Given the description of an element on the screen output the (x, y) to click on. 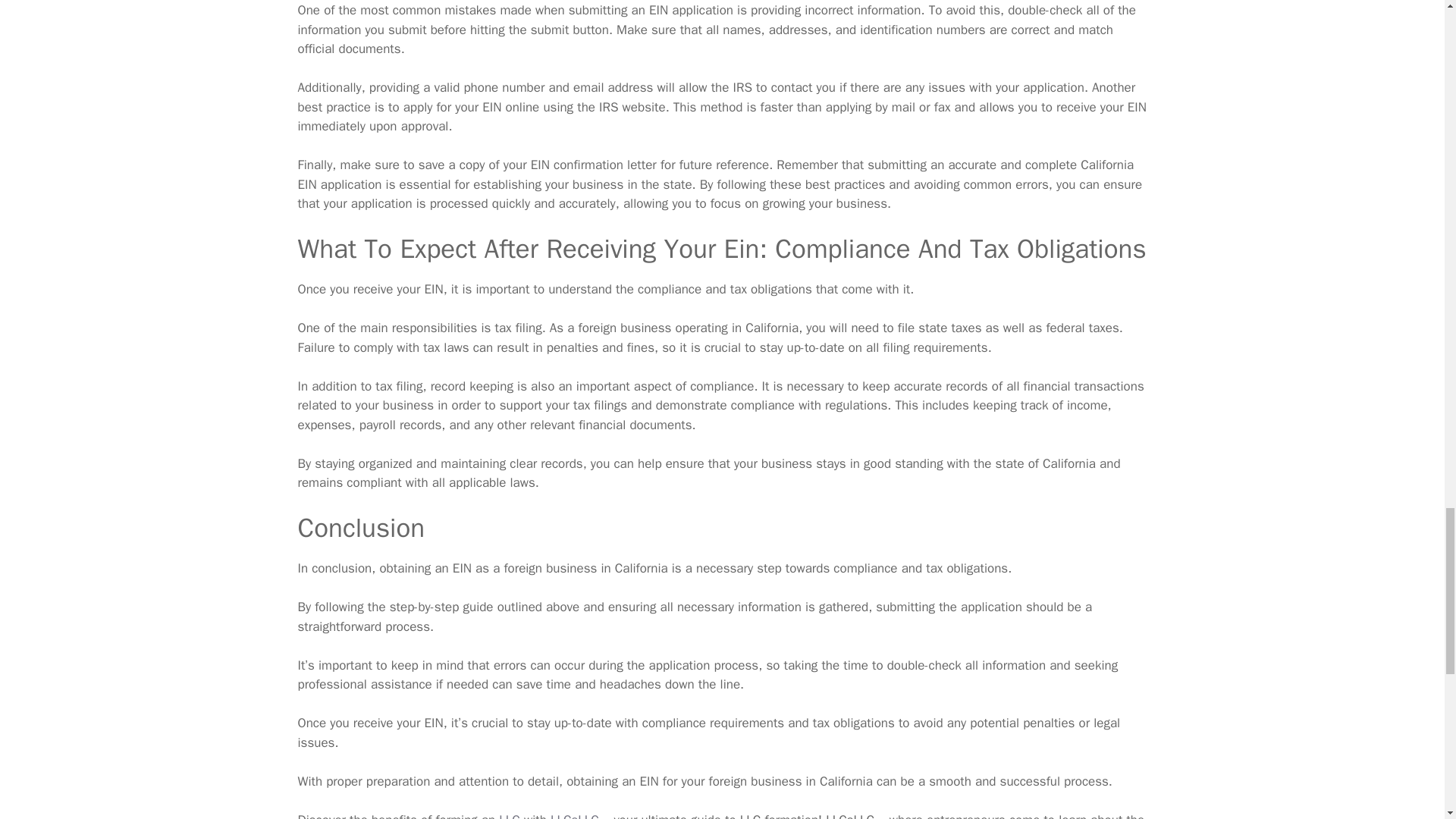
LLCsLLC (574, 815)
How to Make an LLC in 2024: A Comprehensive Guide (509, 815)
LLC (509, 815)
LLCsLLC (574, 815)
